Given the description of an element on the screen output the (x, y) to click on. 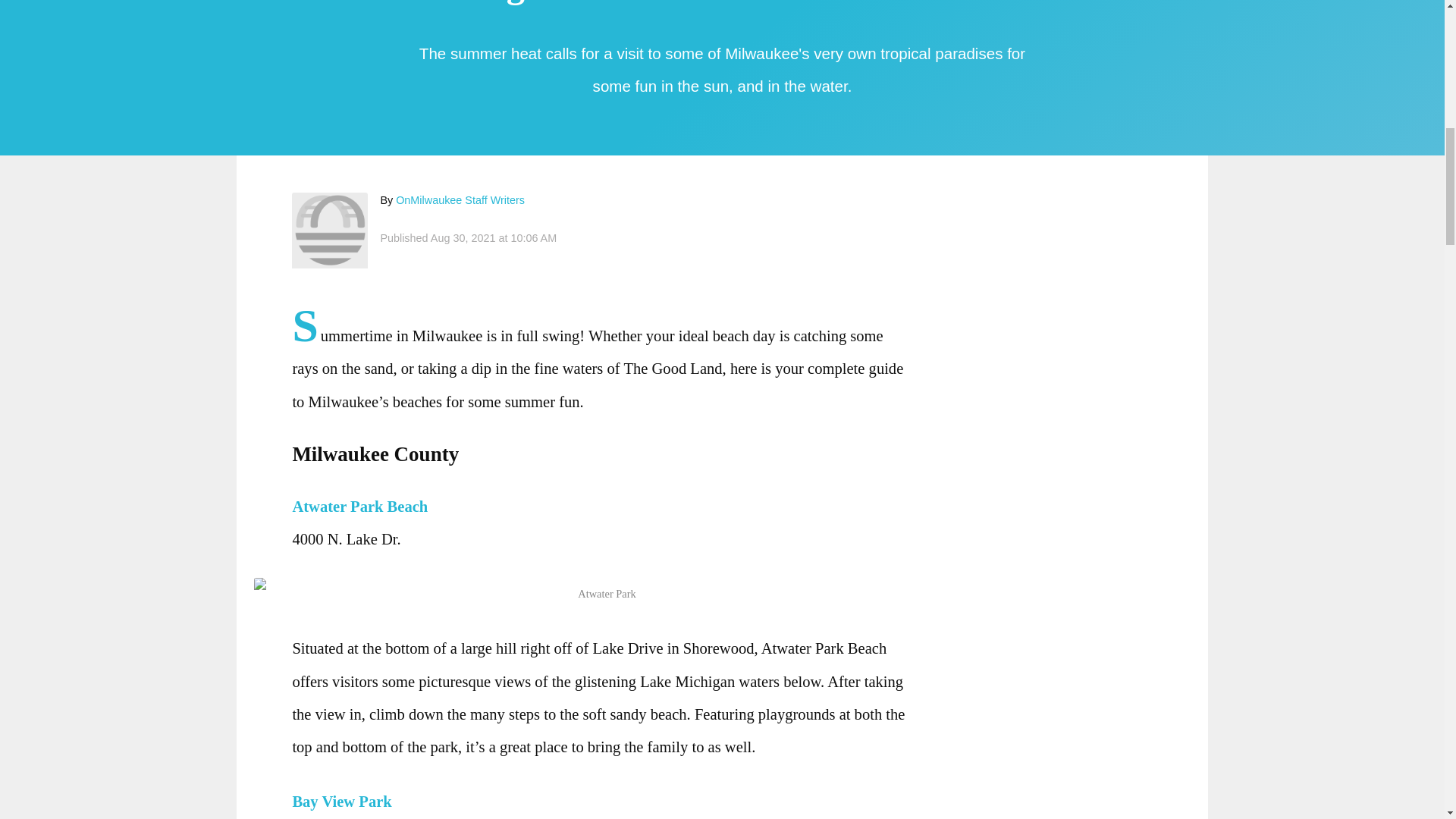
OnMilwaukee Staff Writers (330, 230)
Atwater Park Beach (363, 506)
More articles by OnMilwaukee Staff Writers (460, 200)
OnMilwaukee Staff Writers (460, 200)
Bay View Park (345, 801)
